Given the description of an element on the screen output the (x, y) to click on. 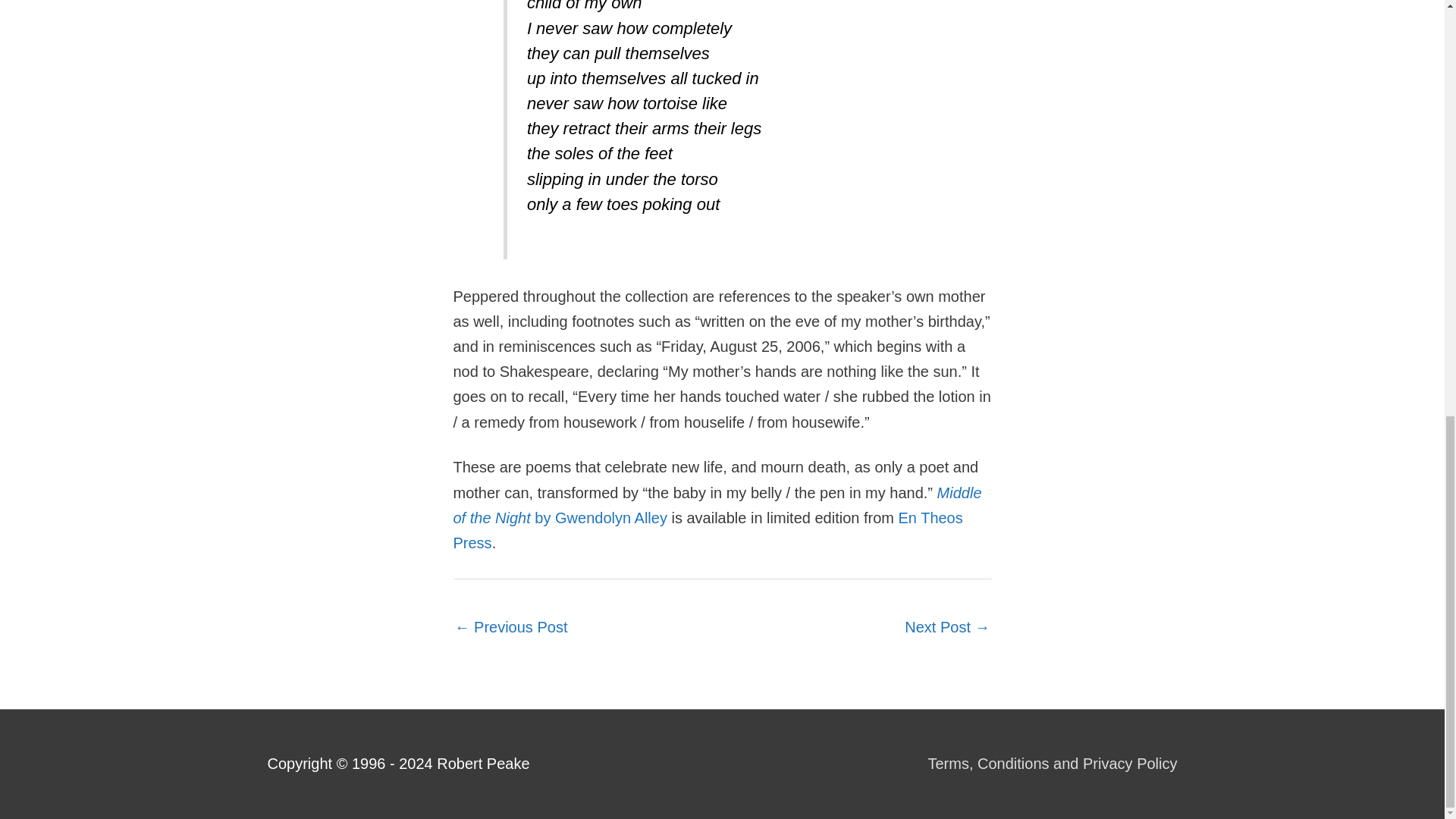
En Theos Press (707, 530)
Middle of the Night by Gwendolyn Alley (716, 505)
Why I Write (947, 628)
Silk Road Review 6.1 (510, 628)
